Given the description of an element on the screen output the (x, y) to click on. 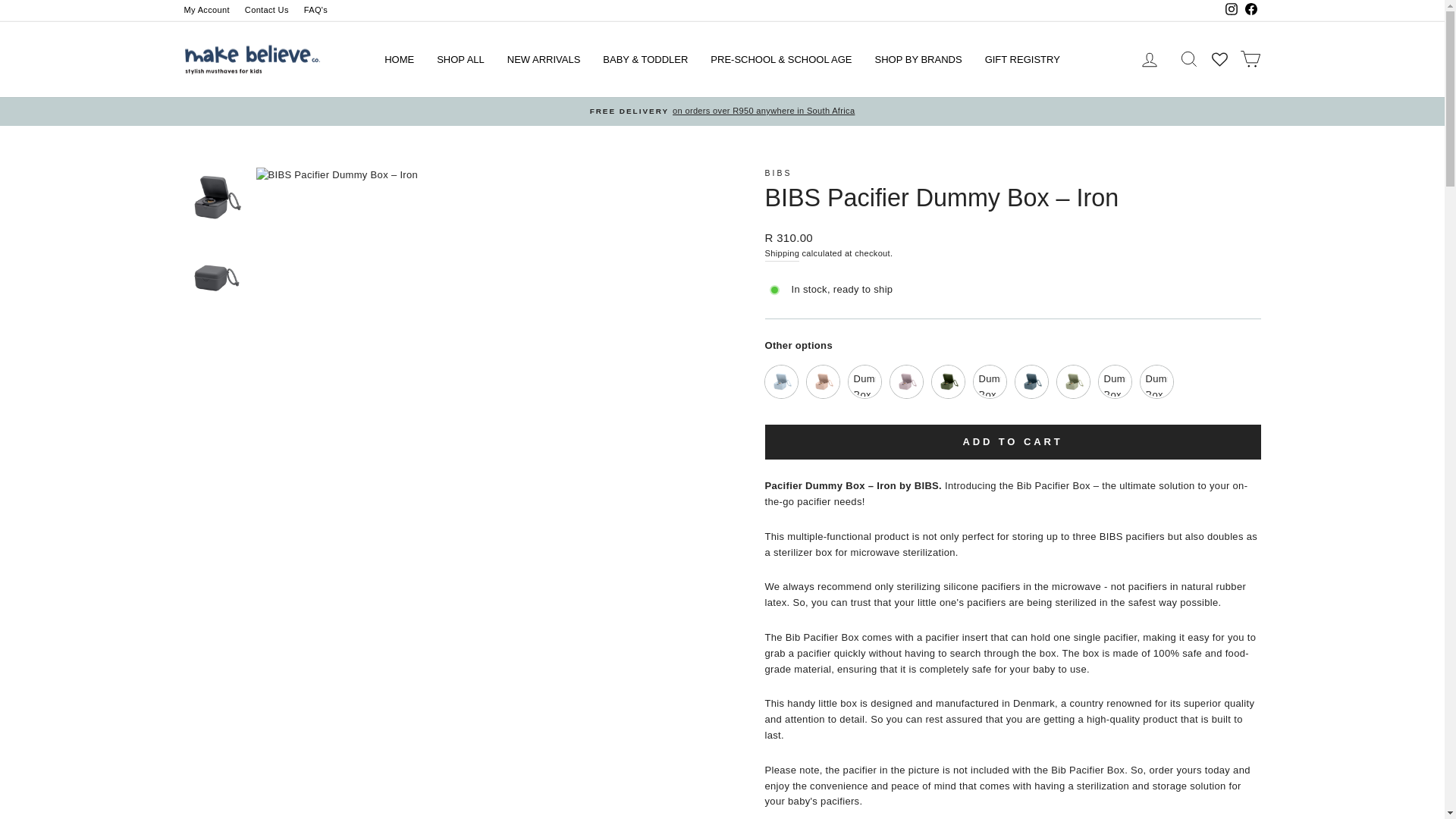
Make Believe Co. on Facebook (1250, 10)
Make Believe Co. on Instagram (1230, 10)
